Given the description of an element on the screen output the (x, y) to click on. 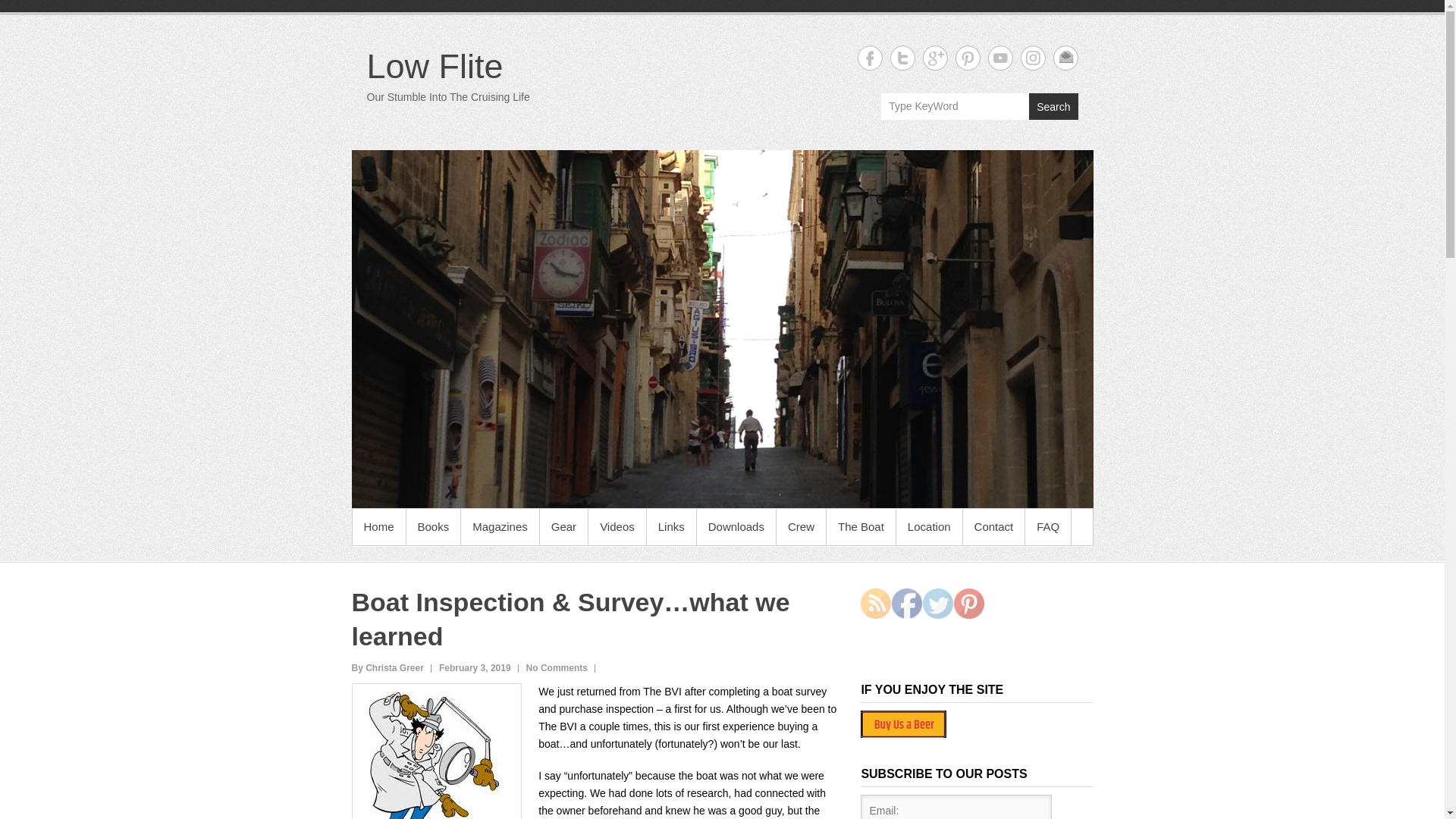
Type KeyWord (955, 105)
Search (1053, 106)
Christa Greer (387, 667)
Pinterest (968, 603)
Low Flite on Facebook (869, 57)
Downloads (736, 526)
Low Flite on Instagram (1032, 57)
FAQ (1047, 526)
Contact (993, 526)
Low Flite Instagram (1032, 57)
